Given the description of an element on the screen output the (x, y) to click on. 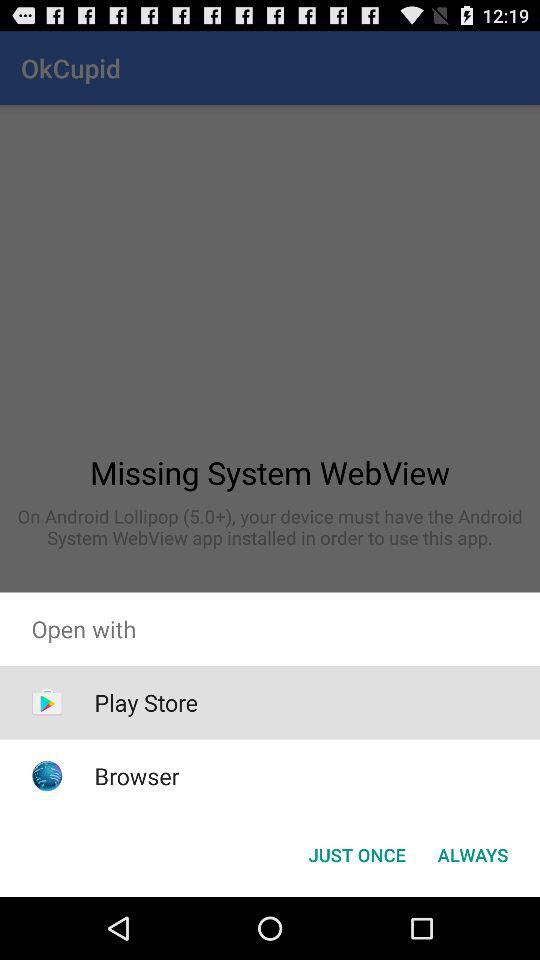
turn on item below the open with item (472, 854)
